Given the description of an element on the screen output the (x, y) to click on. 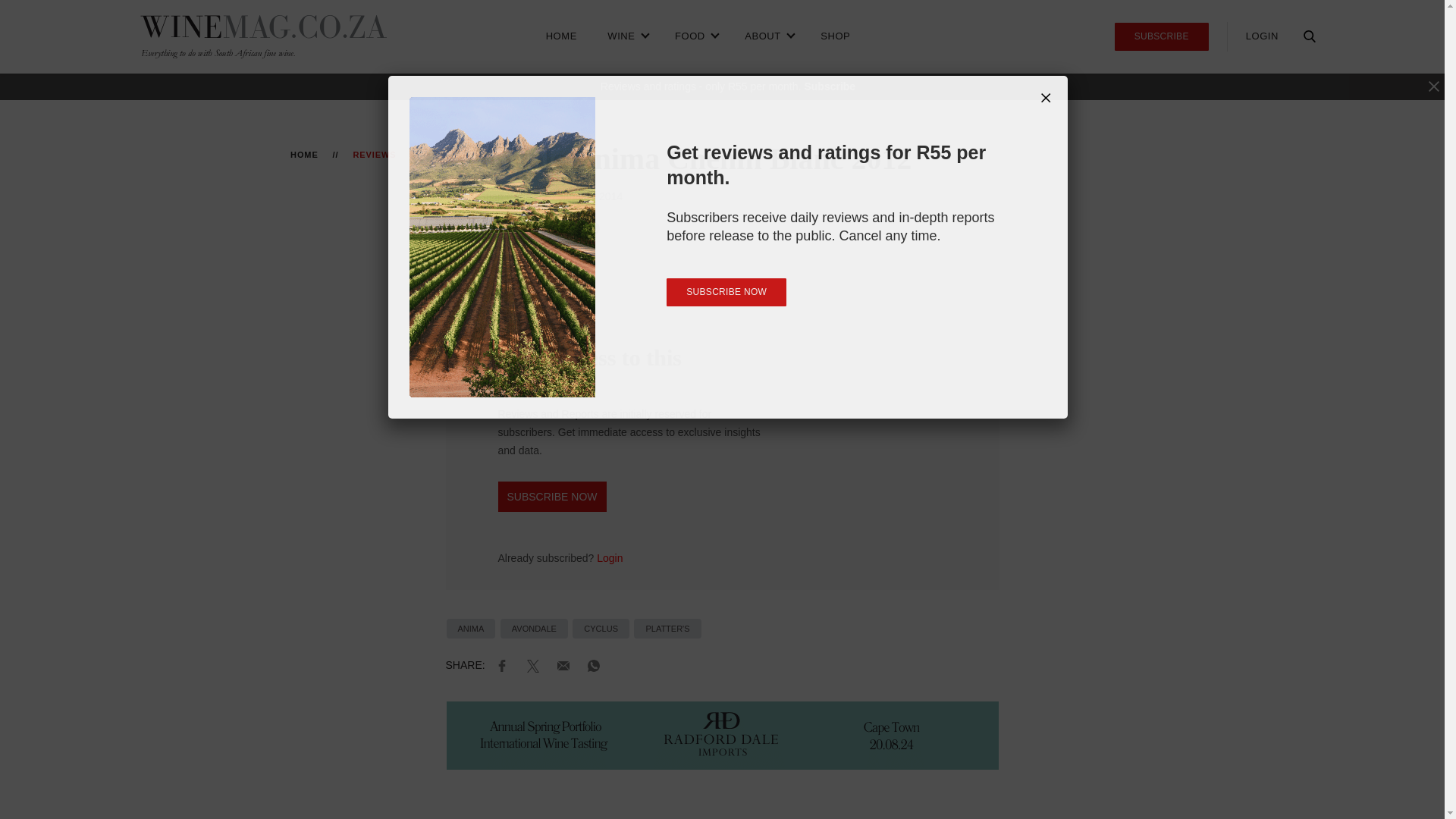
FOOD (694, 35)
HOME (561, 35)
Posts by Christian Eedes (499, 196)
WINE (626, 35)
